Given the description of an element on the screen output the (x, y) to click on. 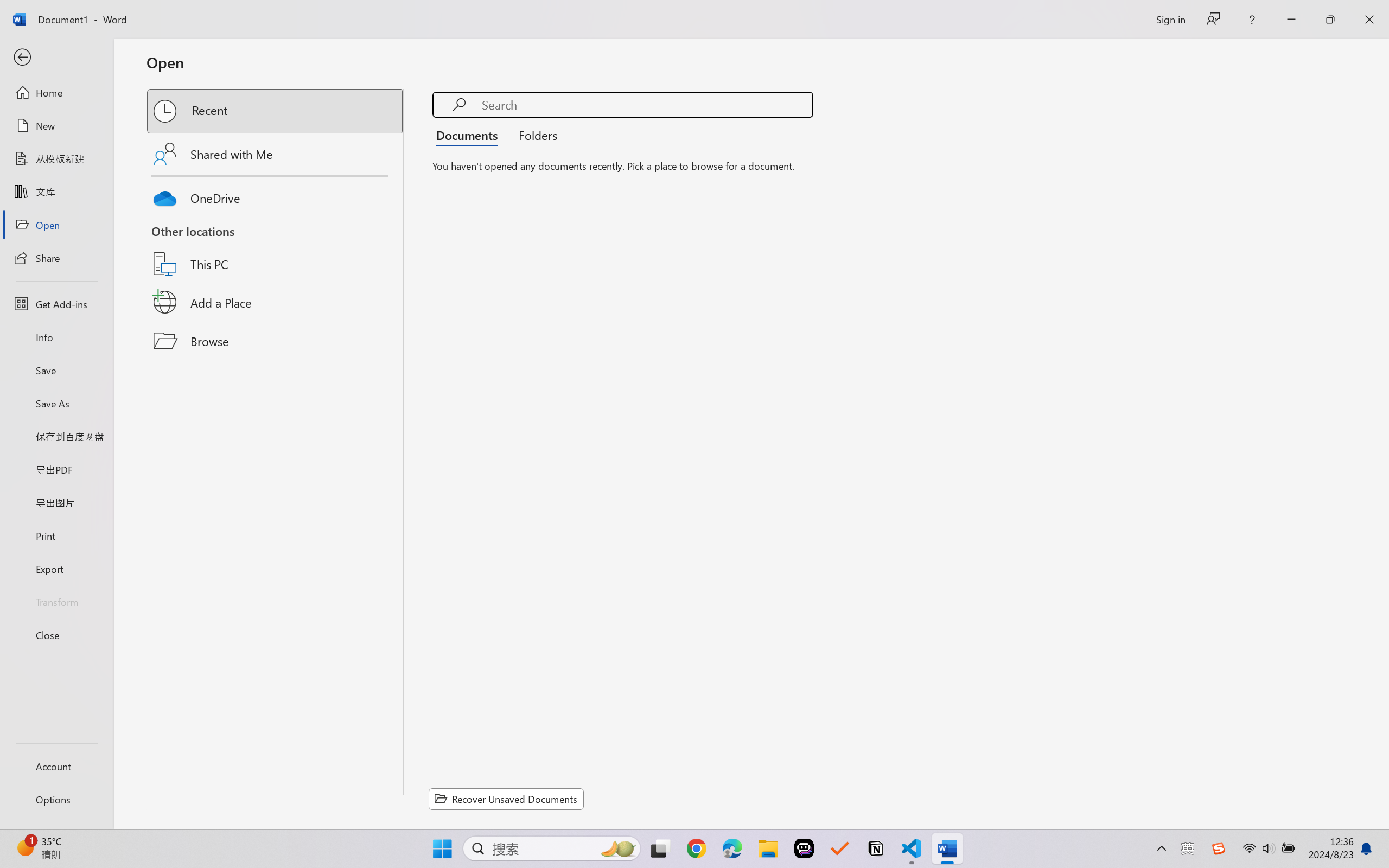
Documents (469, 134)
Shared with Me (275, 153)
Folders (534, 134)
Account (56, 765)
Save As (56, 403)
